Given the description of an element on the screen output the (x, y) to click on. 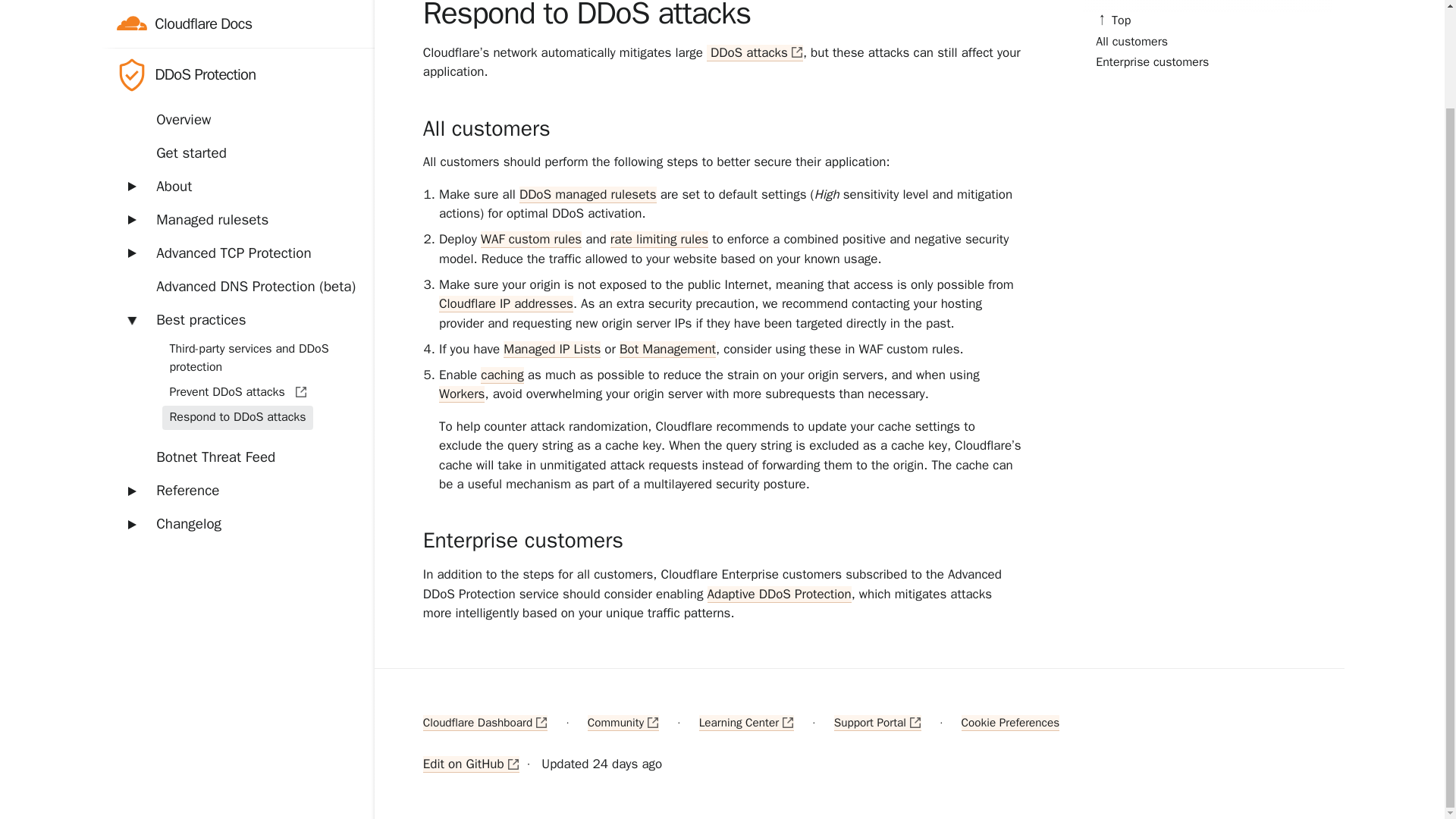
Managed rulesets (237, 105)
Overview (237, 10)
2024-06-27 (627, 763)
Get started (237, 39)
About (237, 72)
